Given the description of an element on the screen output the (x, y) to click on. 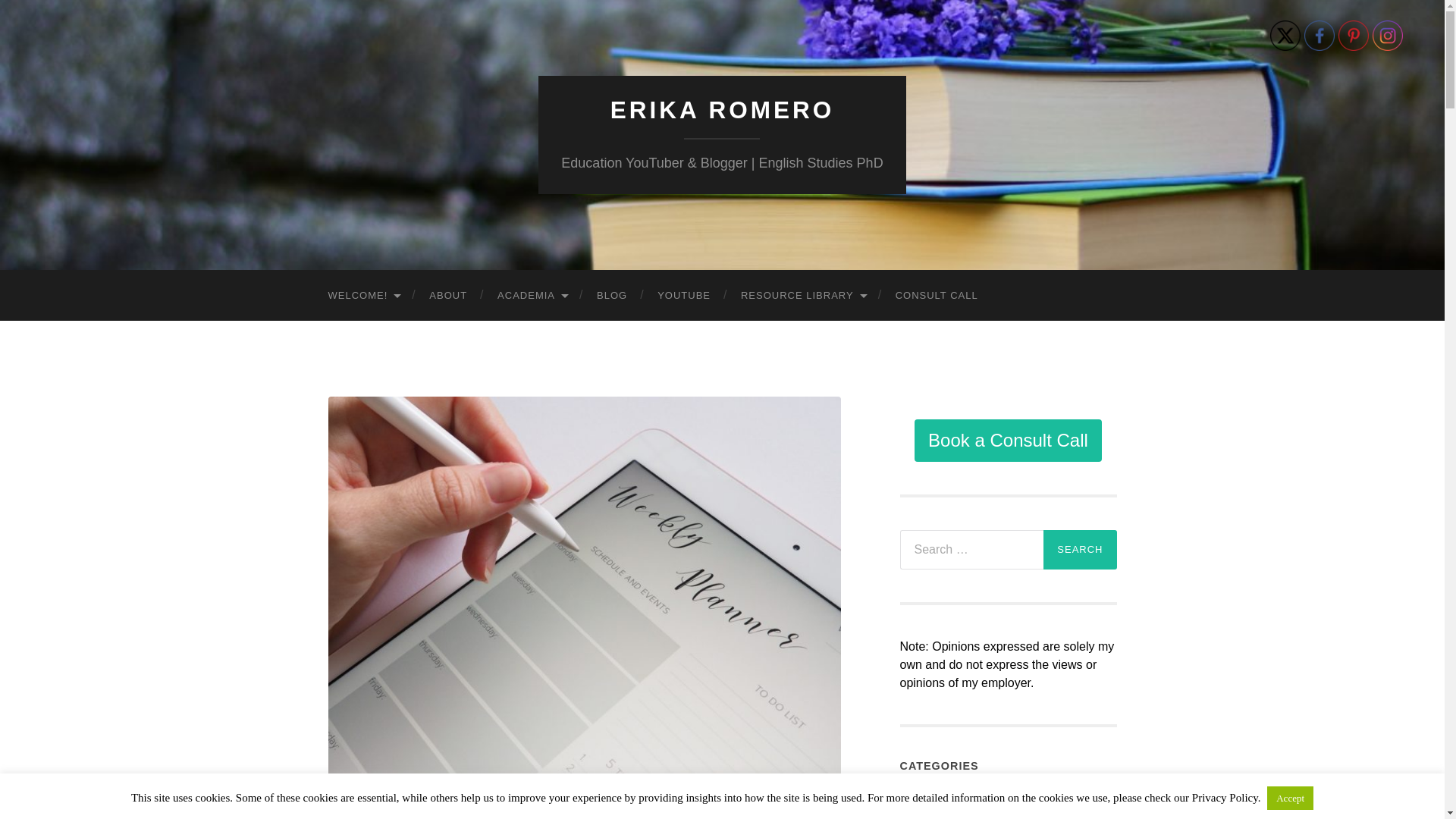
CONSULT CALL (936, 295)
BLOG (611, 295)
RESOURCE LIBRARY (802, 295)
ABOUT (447, 295)
ERIKA ROMERO (722, 109)
WELCOME! (363, 295)
Search (1079, 549)
Search (1079, 549)
ACADEMIA (530, 295)
YOUTUBE (683, 295)
